Given the description of an element on the screen output the (x, y) to click on. 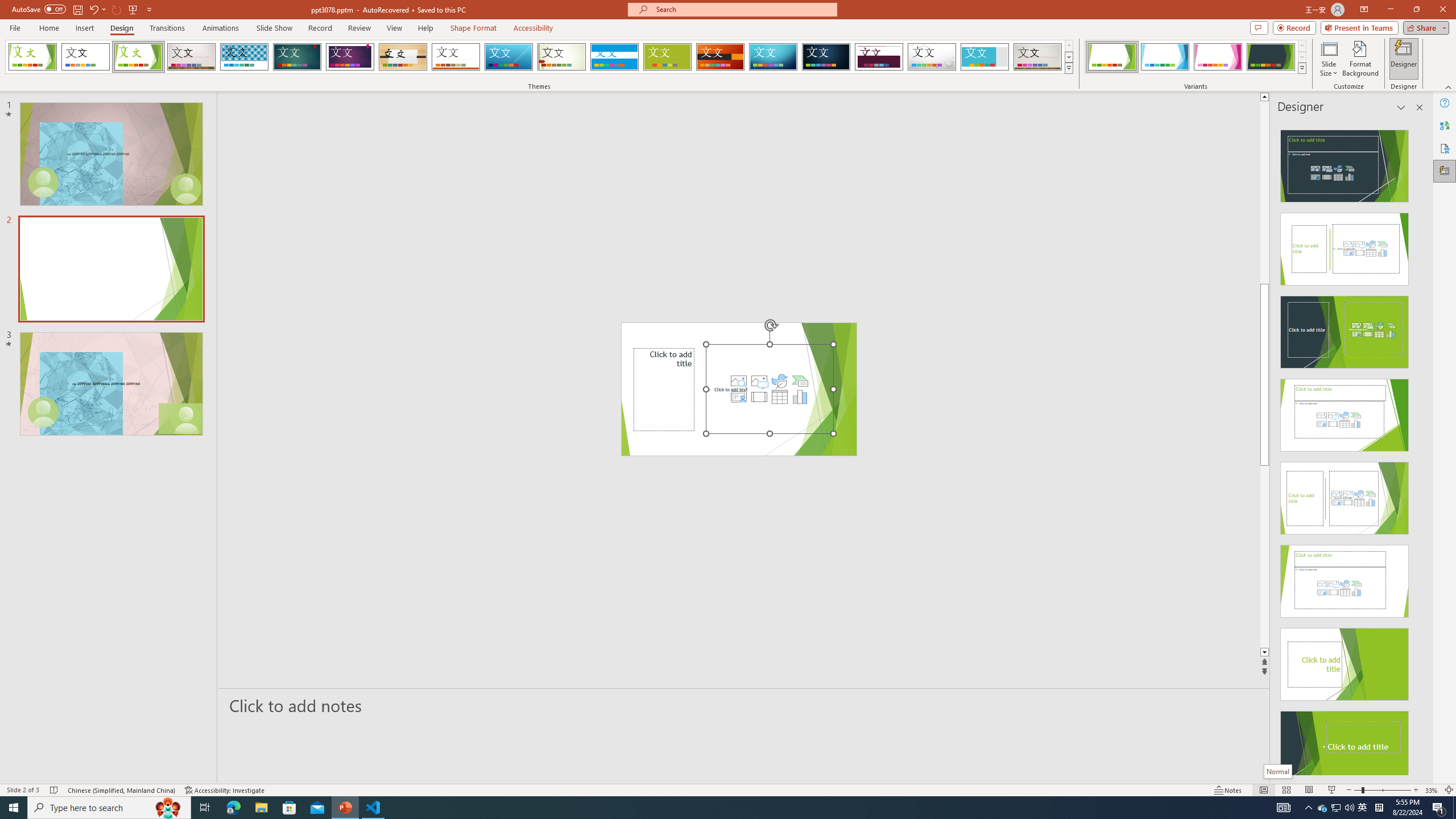
Organic (403, 56)
